Given the description of an element on the screen output the (x, y) to click on. 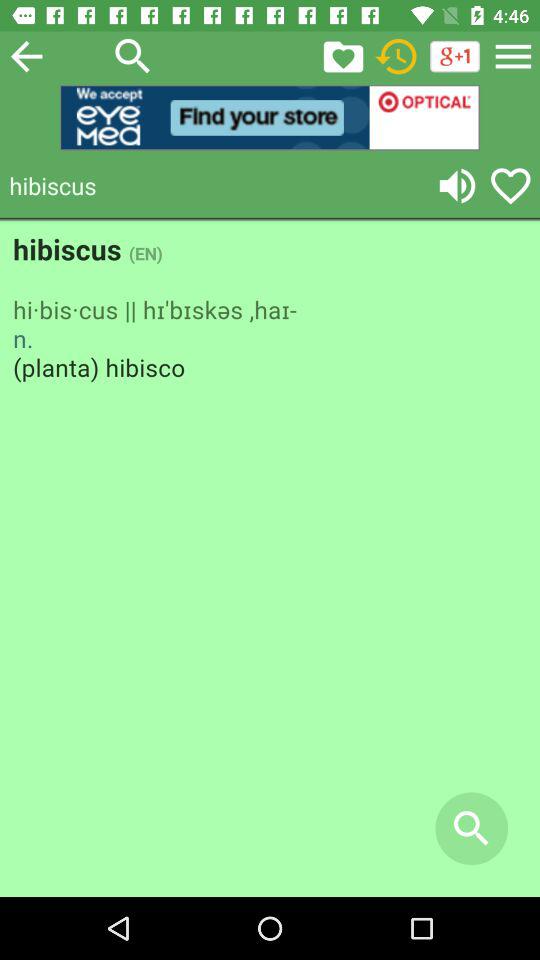
search option (133, 56)
